Given the description of an element on the screen output the (x, y) to click on. 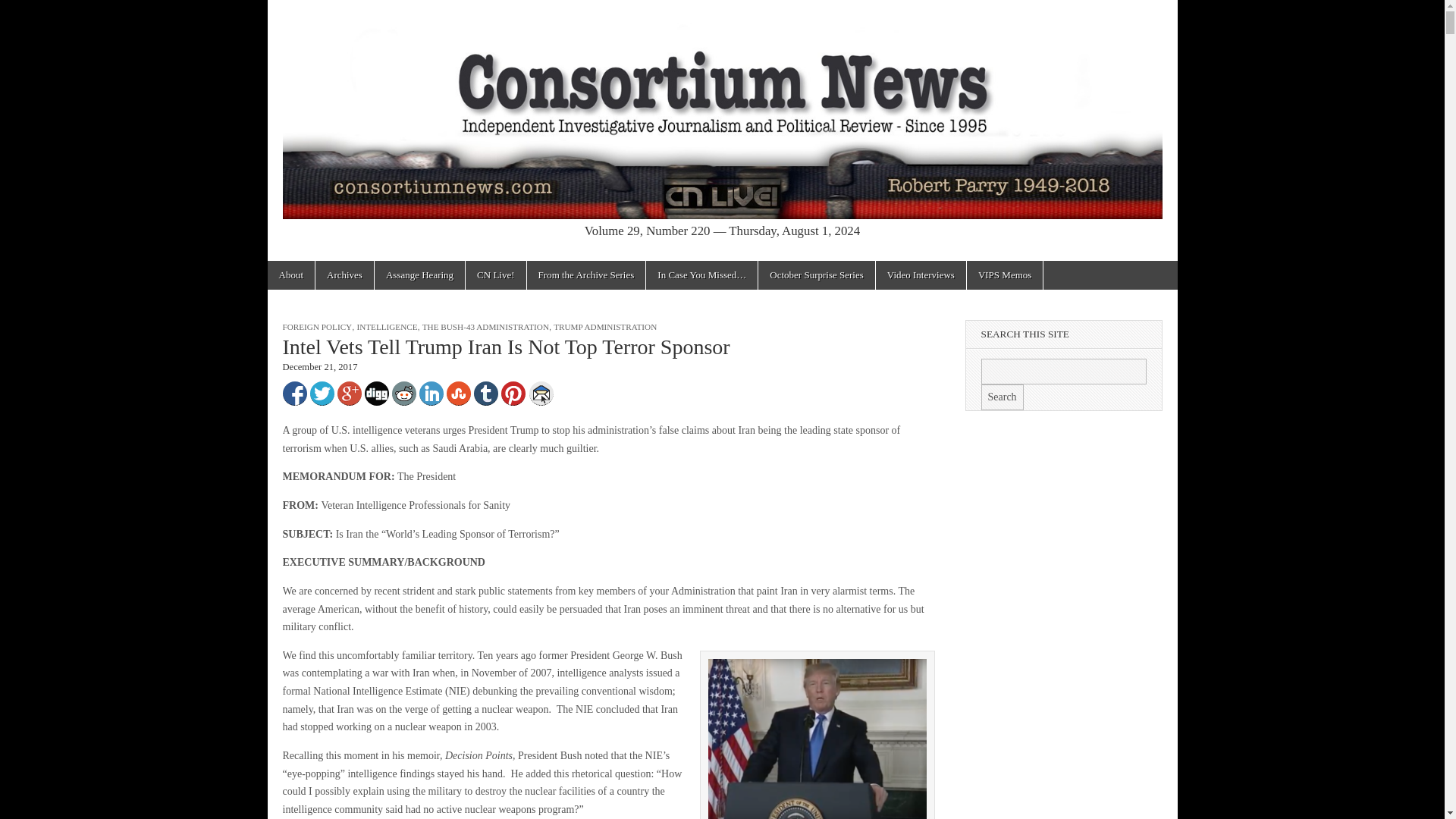
THE BUSH-43 ADMINISTRATION (485, 326)
Share to Reddit (402, 393)
Email this article (541, 393)
Share to Digg (376, 393)
INTELLIGENCE (386, 326)
October Surprise Series (816, 275)
FOREIGN POLICY (317, 326)
CN Live! (495, 275)
Share to StumbleUpon (457, 393)
About (290, 275)
Share to Pinterest (512, 393)
Assange Hearing (419, 275)
VIPS Memos (1004, 275)
Share to Twitter (320, 393)
